Given the description of an element on the screen output the (x, y) to click on. 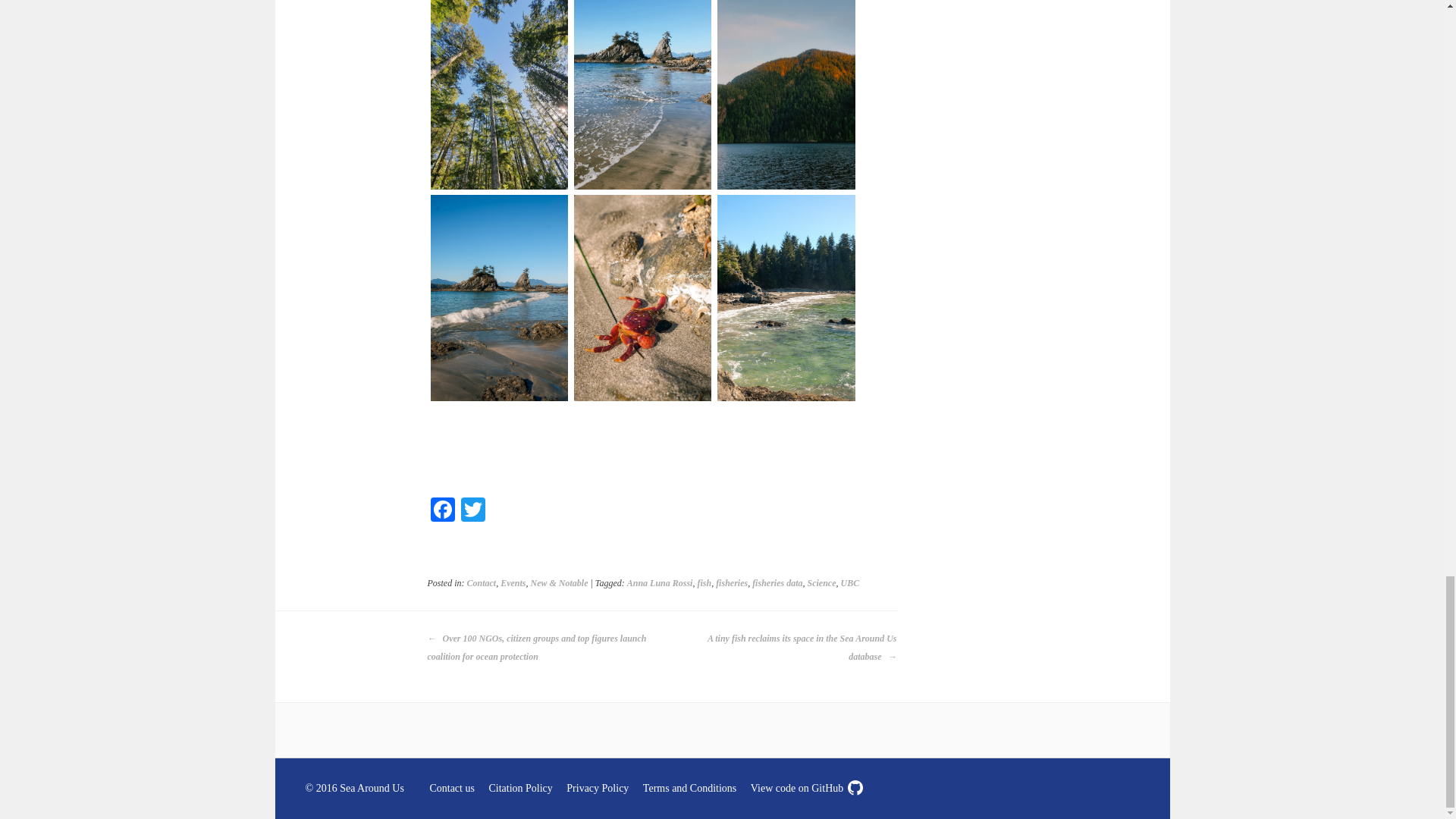
Facebook (443, 511)
Twitter (472, 511)
